Given the description of an element on the screen output the (x, y) to click on. 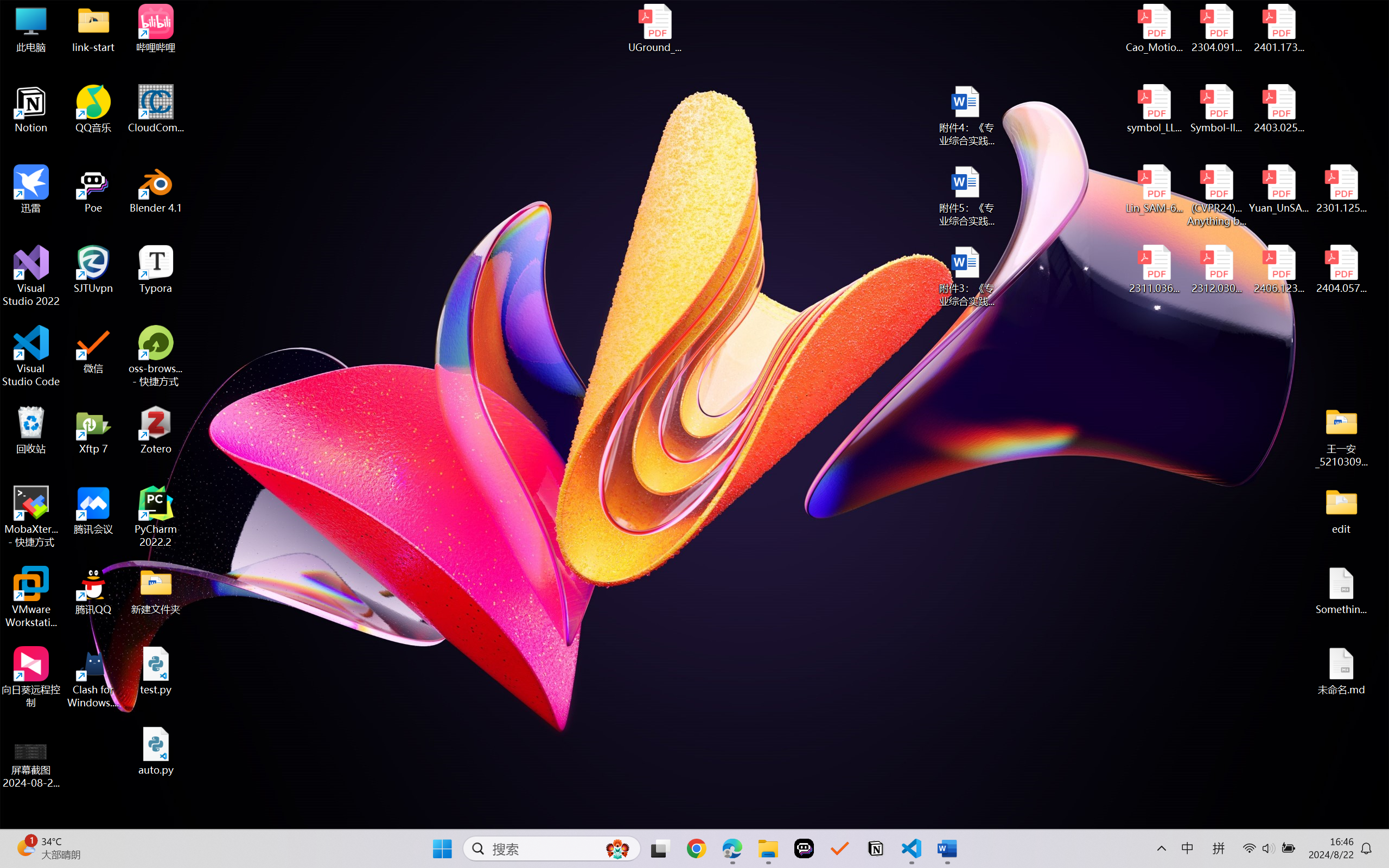
Symbol-llm-v2.pdf (1216, 109)
edit (1340, 510)
VMware Workstation Pro (31, 597)
2403.02502v1.pdf (1278, 109)
2301.12597v3.pdf (1340, 189)
auto.py (156, 751)
